Given the description of an element on the screen output the (x, y) to click on. 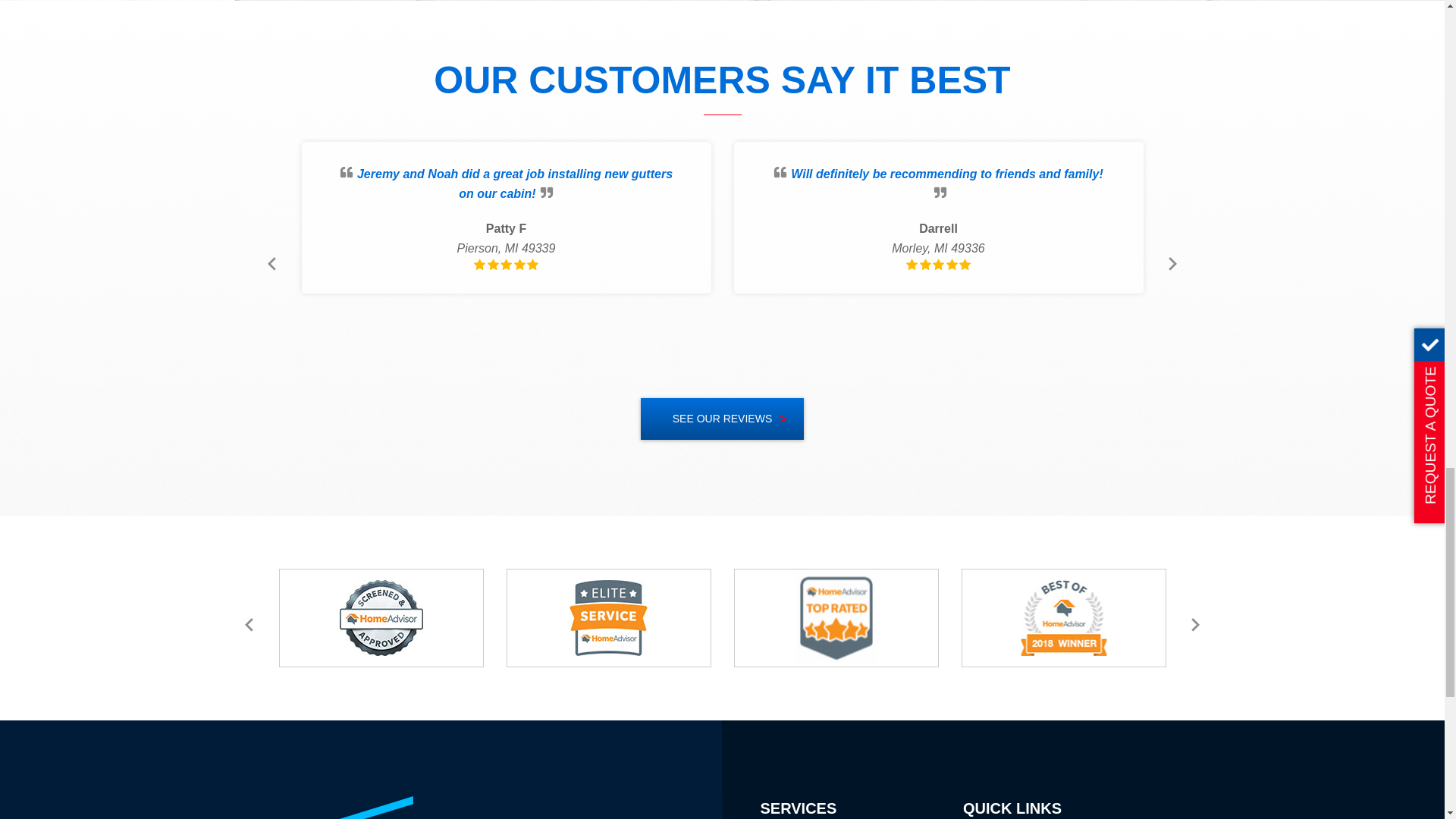
Best Of HomeAdvisor 2018 Winner (1063, 617)
HomeAdvisor Screened and Approved (381, 617)
Elite Service HomeAdvisor (608, 617)
